Given the description of an element on the screen output the (x, y) to click on. 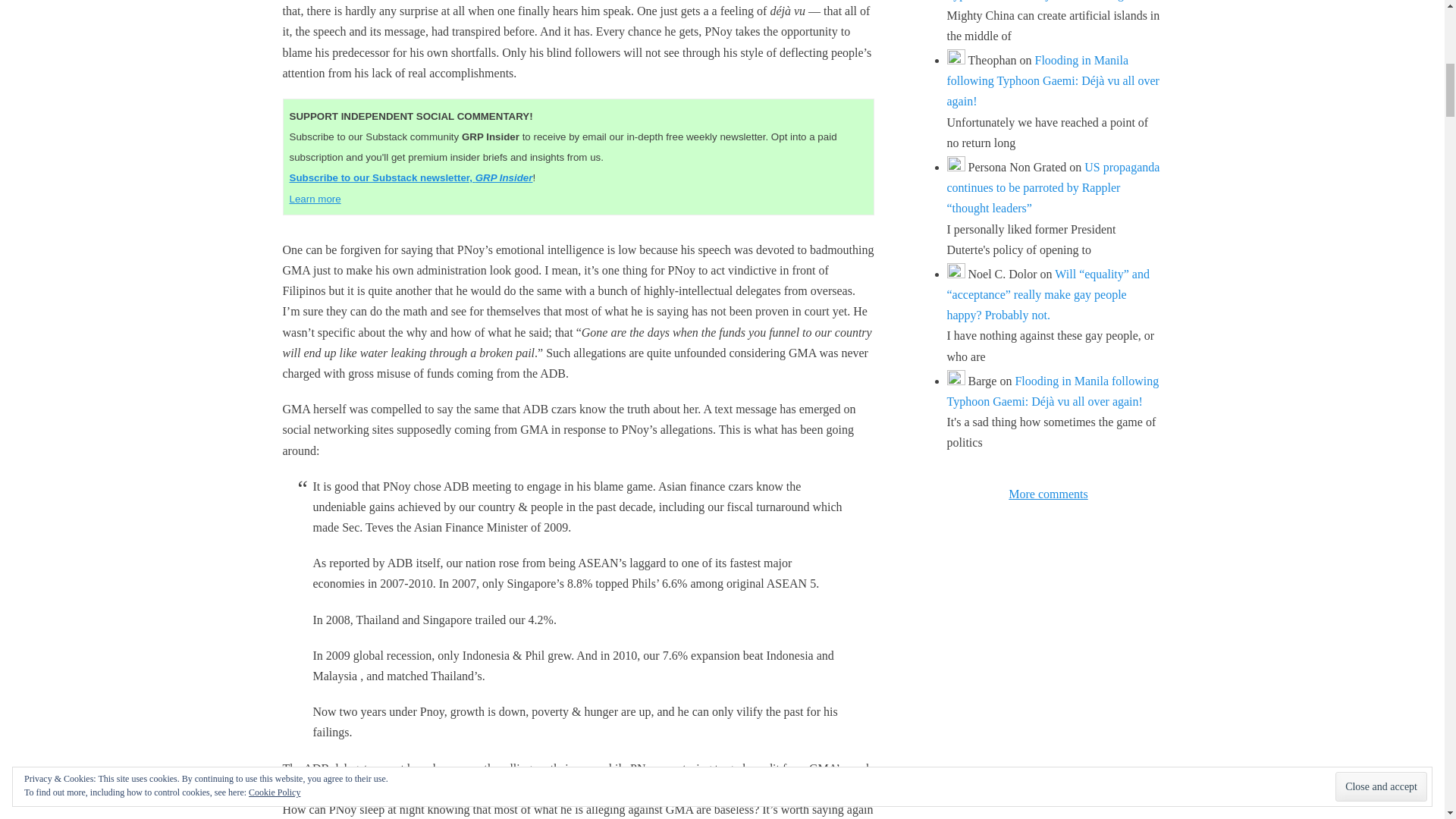
Subscribe to our Substack newsletter, GRP Insider (410, 177)
Learn more (314, 198)
